Given the description of an element on the screen output the (x, y) to click on. 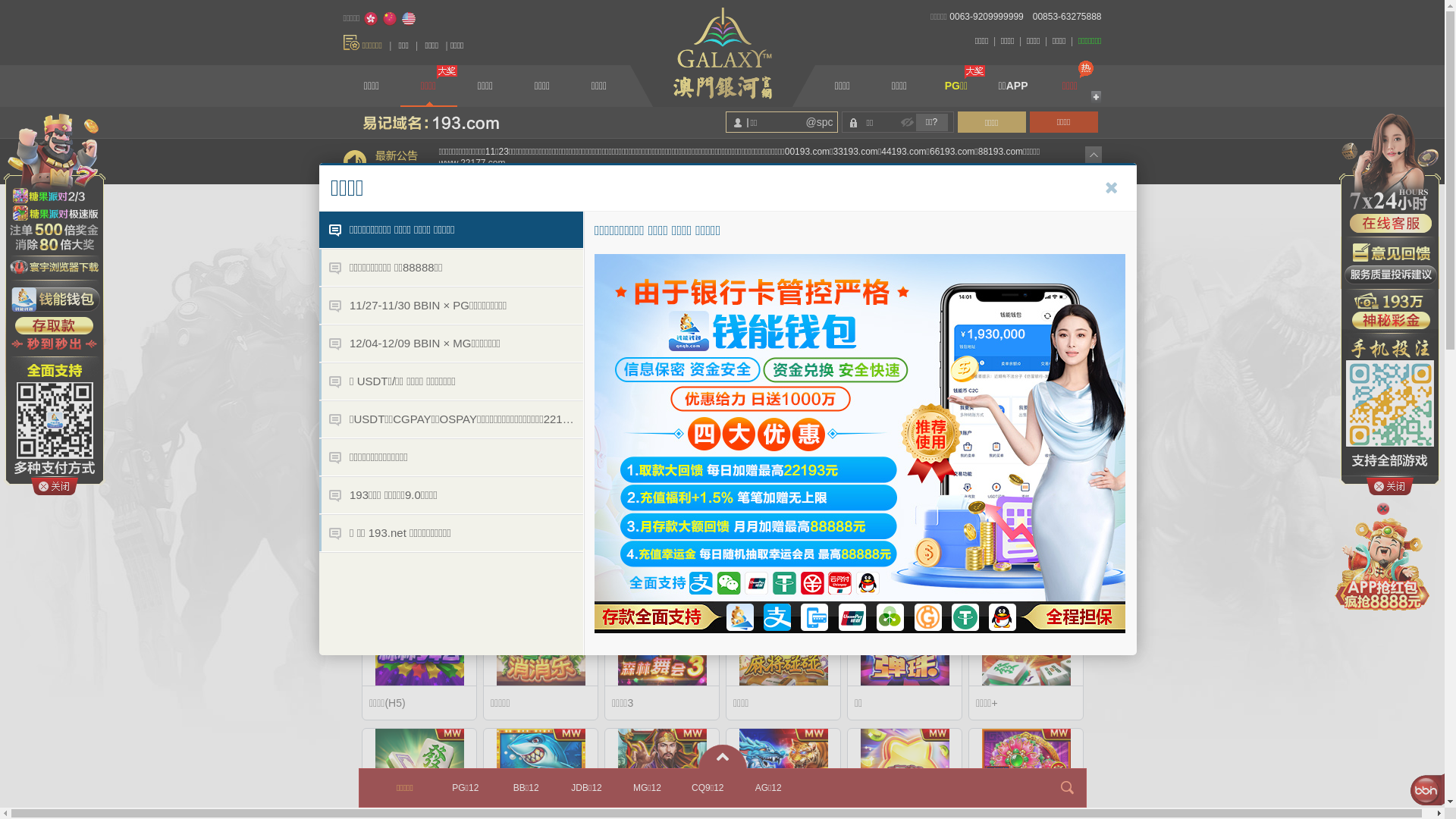
English Element type: hover (408, 18)
